Given the description of an element on the screen output the (x, y) to click on. 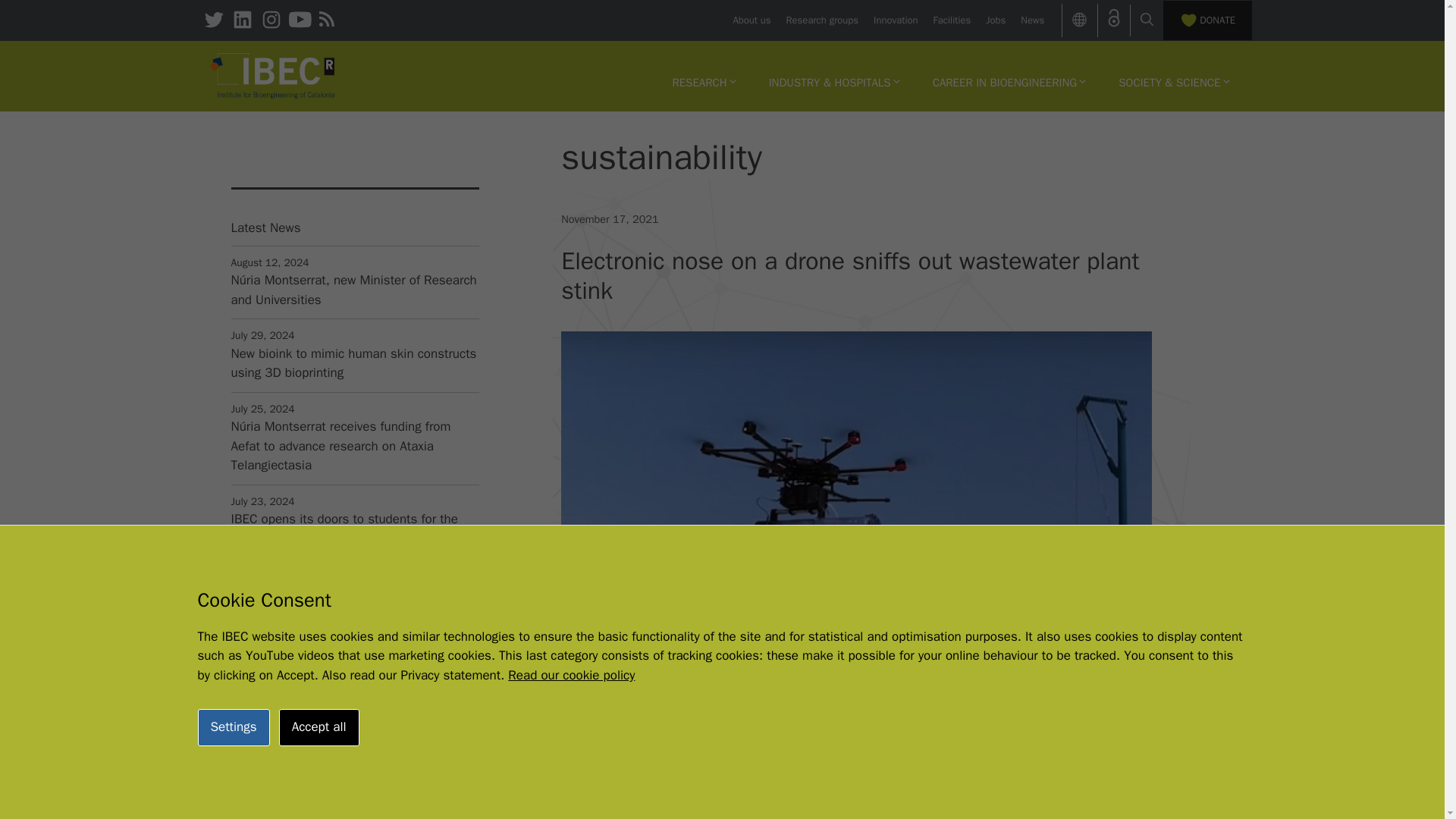
Facilities (952, 19)
RESEARCH (704, 81)
Research groups (822, 19)
DONATE (1207, 20)
Institute for Bioengineering of Catalonia (272, 75)
Sign me up (353, 811)
About us (751, 19)
Jobs (995, 19)
Institute for Bioengineering of Catalonia (272, 74)
News (1031, 19)
